Given the description of an element on the screen output the (x, y) to click on. 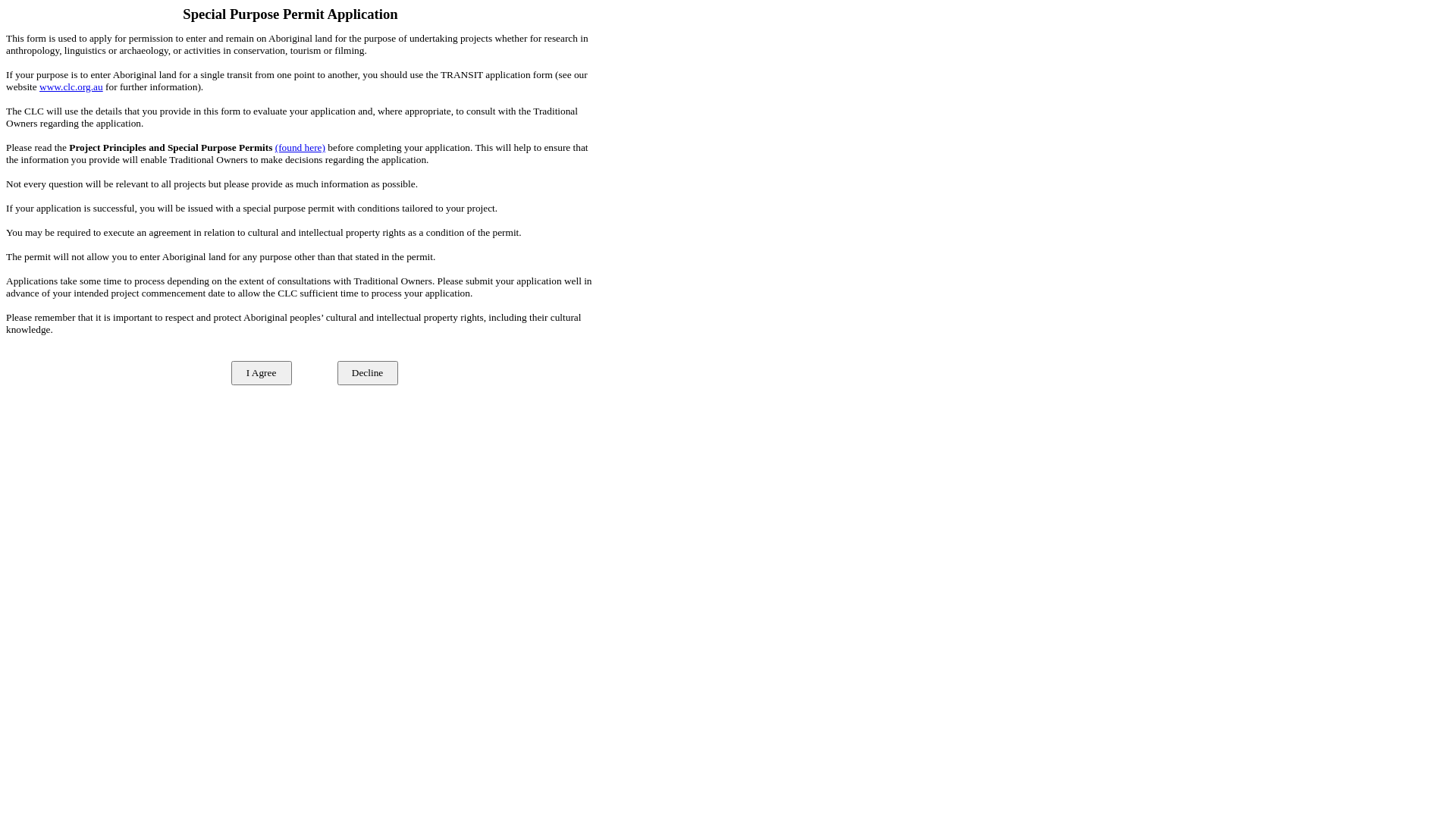
Decline Element type: text (367, 372)
www.clc.org.au Element type: text (71, 86)
I Agree Element type: text (261, 372)
(found here) Element type: text (300, 147)
